Given the description of an element on the screen output the (x, y) to click on. 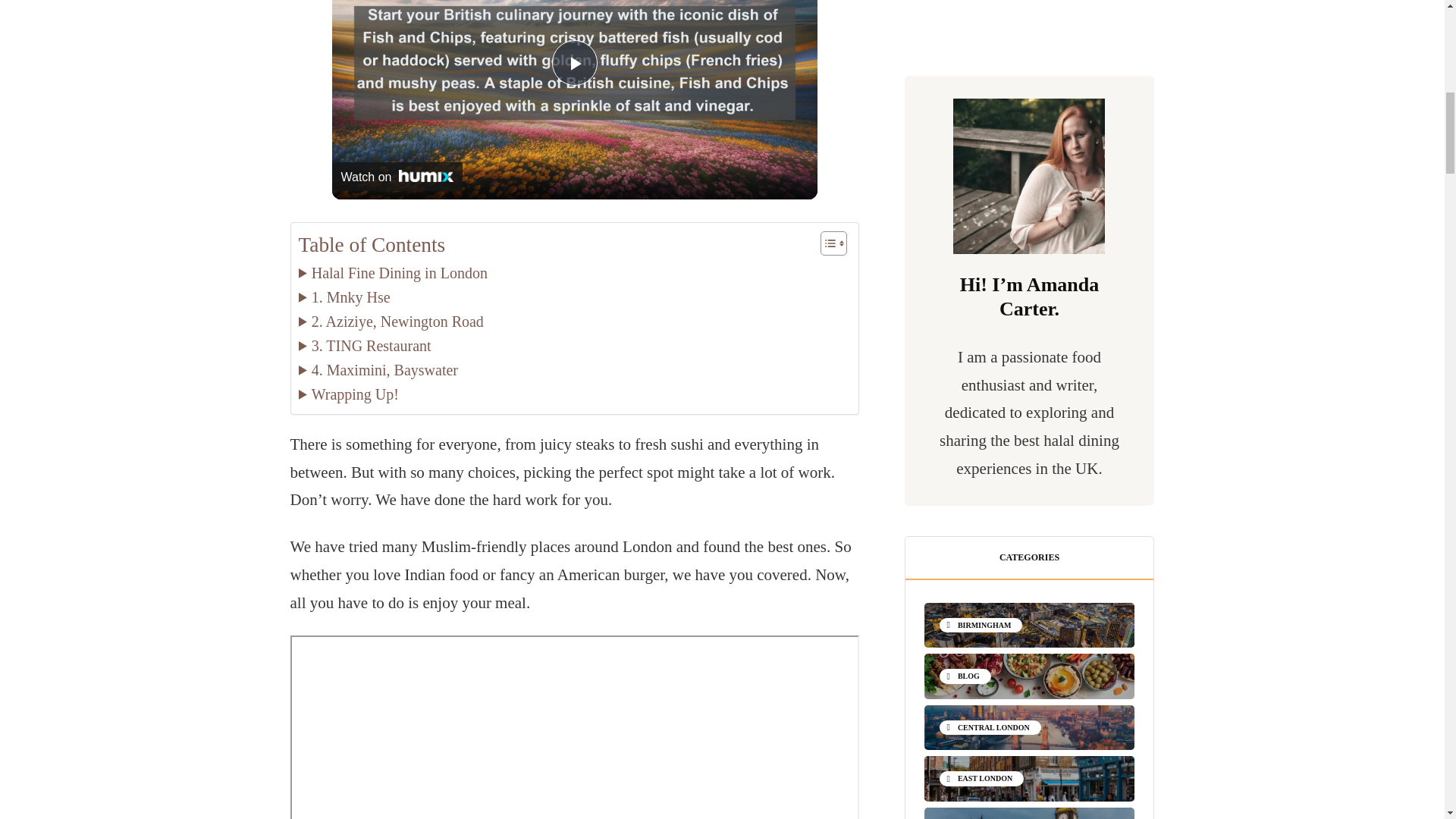
Halal Fine Dining in London (392, 273)
Play Video (573, 62)
Play Video (573, 62)
2. Aziziye, Newington Road (390, 321)
1. Mnky Hse (344, 297)
3. TING Restaurant (364, 345)
